Given the description of an element on the screen output the (x, y) to click on. 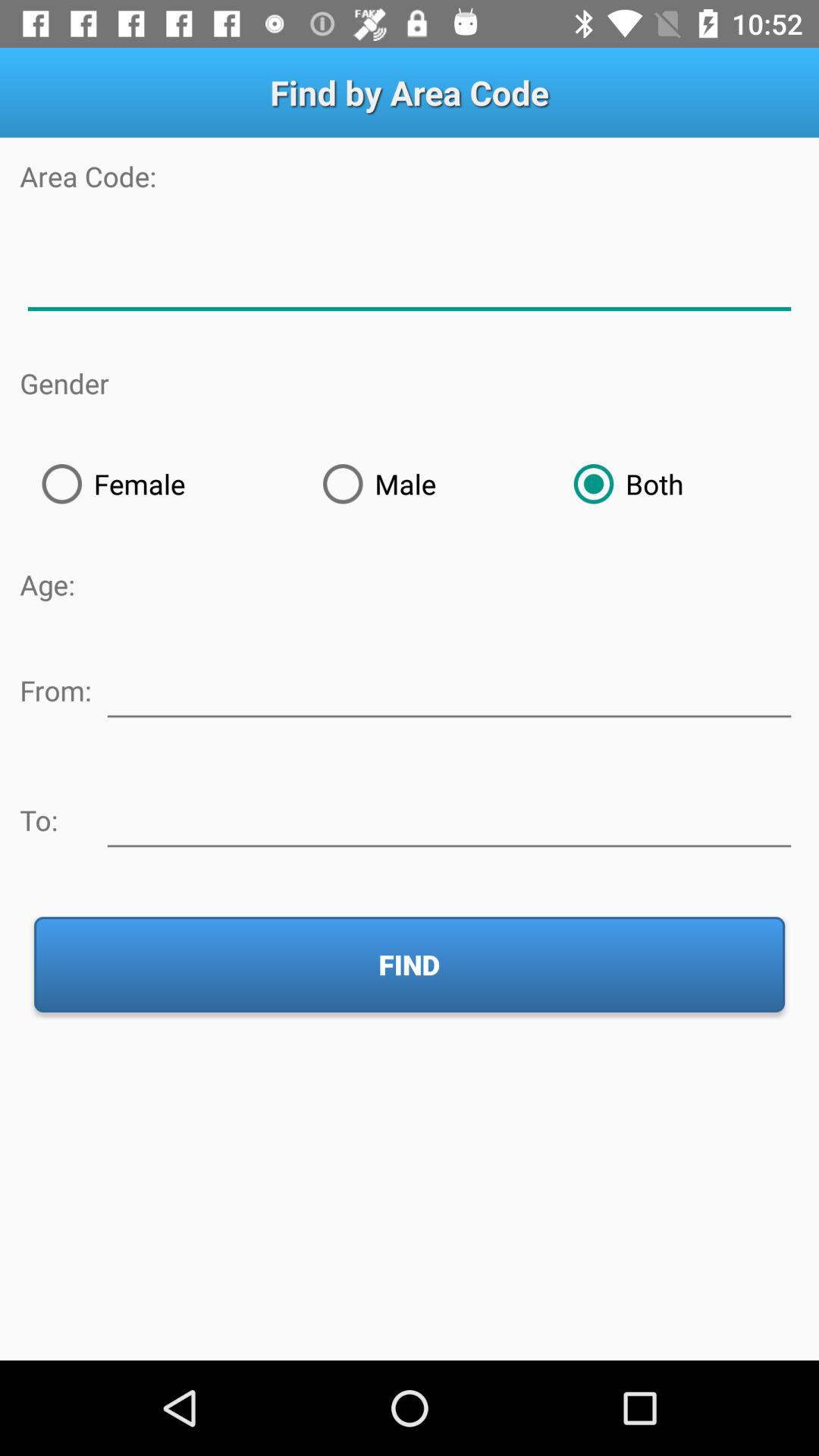
tap radio button to the right of the male (674, 483)
